Given the description of an element on the screen output the (x, y) to click on. 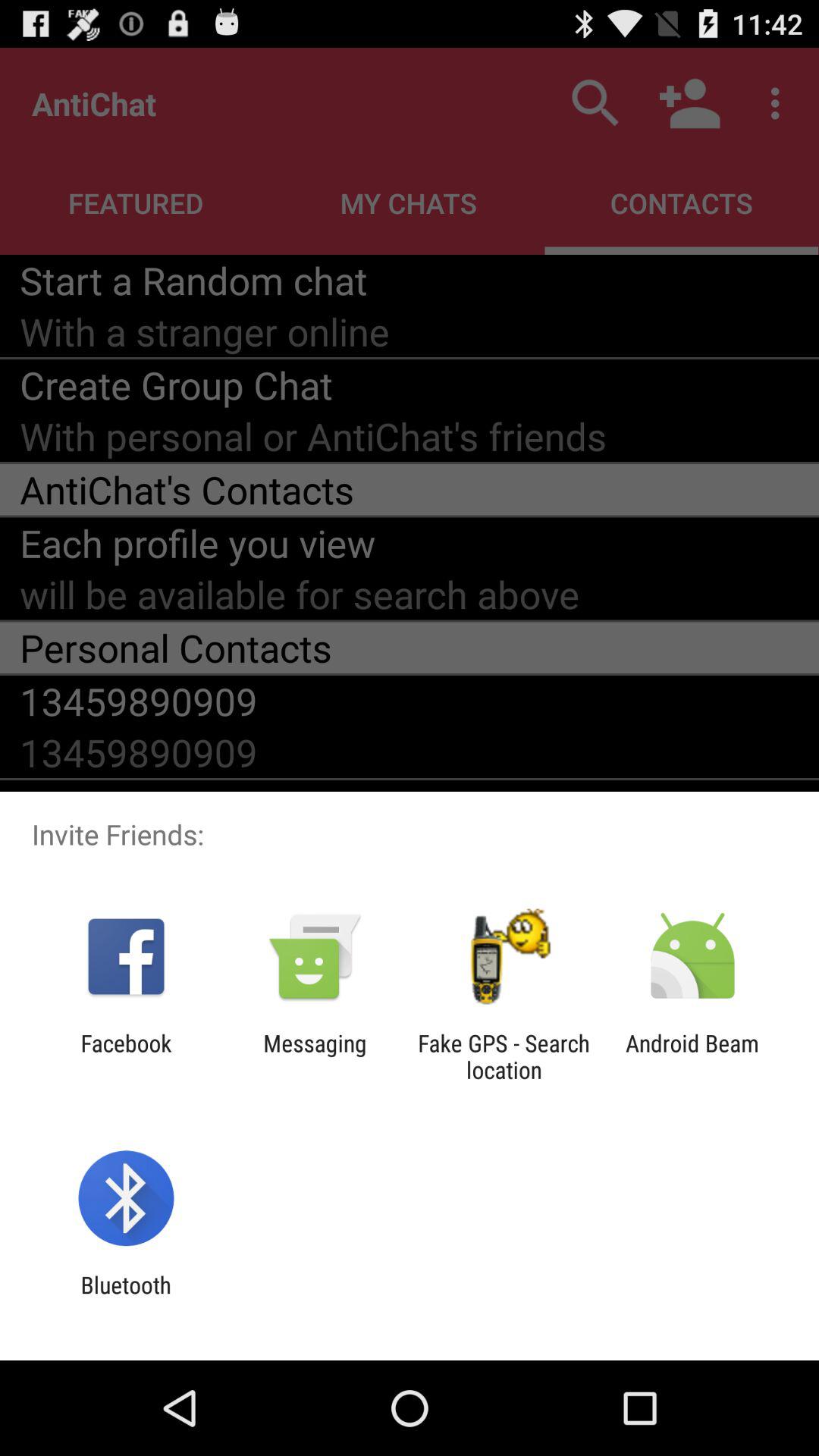
tap the item next to the messaging item (503, 1056)
